Given the description of an element on the screen output the (x, y) to click on. 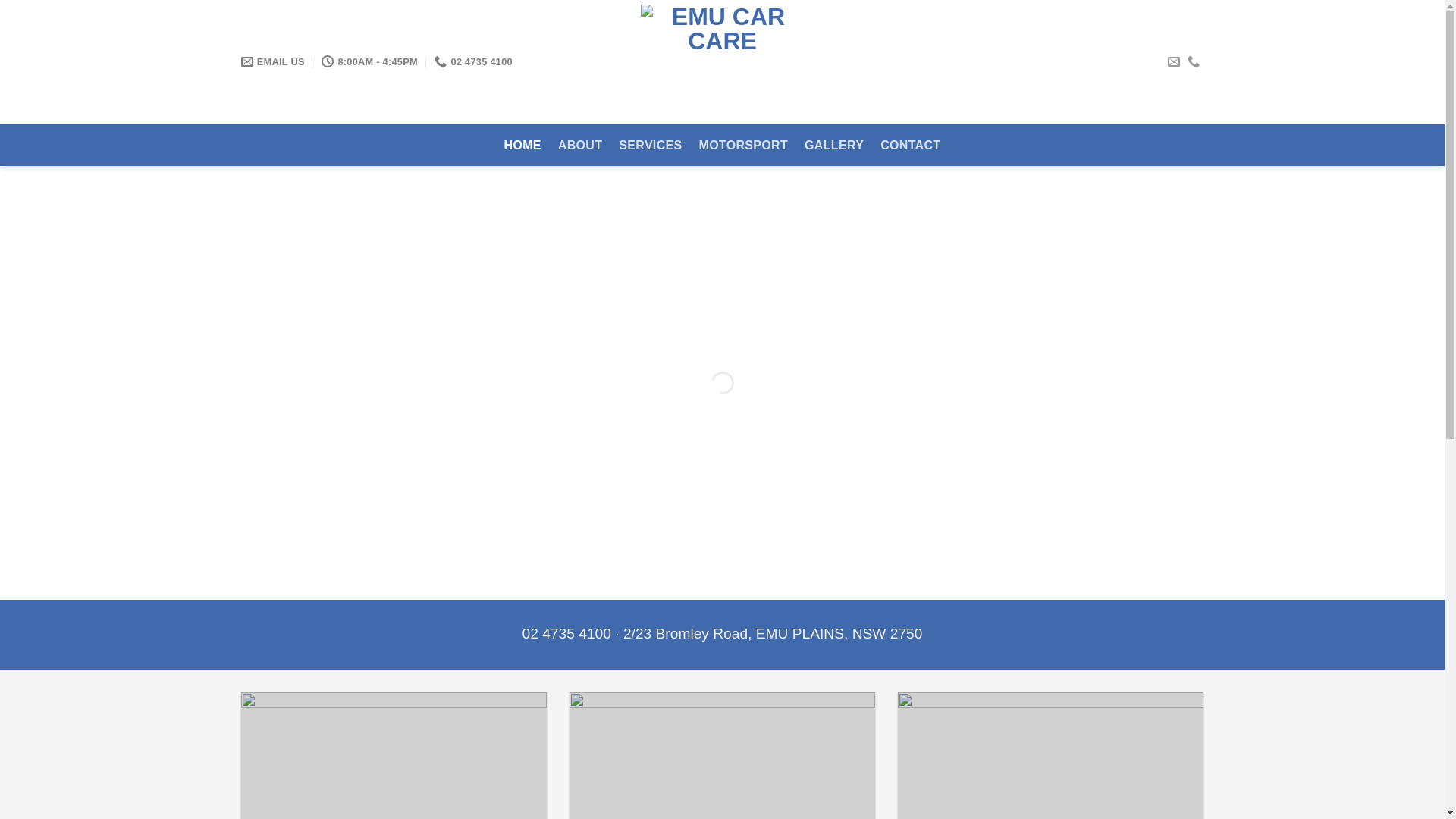
GALLERY Element type: text (833, 145)
Send us an email Element type: hover (1173, 62)
ABOUT Element type: text (580, 145)
MOTORSPORT Element type: text (743, 145)
02 4735 4100 Element type: text (454, 61)
2/23 Bromley Road, EMU PLAINS, NSW 2750 Element type: text (772, 632)
CONTACT Element type: text (910, 145)
8:00AM - 4:45PM Element type: text (357, 61)
EMAIL US Element type: text (269, 61)
SERVICES Element type: text (649, 145)
02 4735 4100 Element type: text (566, 632)
Emu Car Care Element type: hover (722, 62)
Call us Element type: hover (1193, 62)
HOME Element type: text (522, 145)
